Given the description of an element on the screen output the (x, y) to click on. 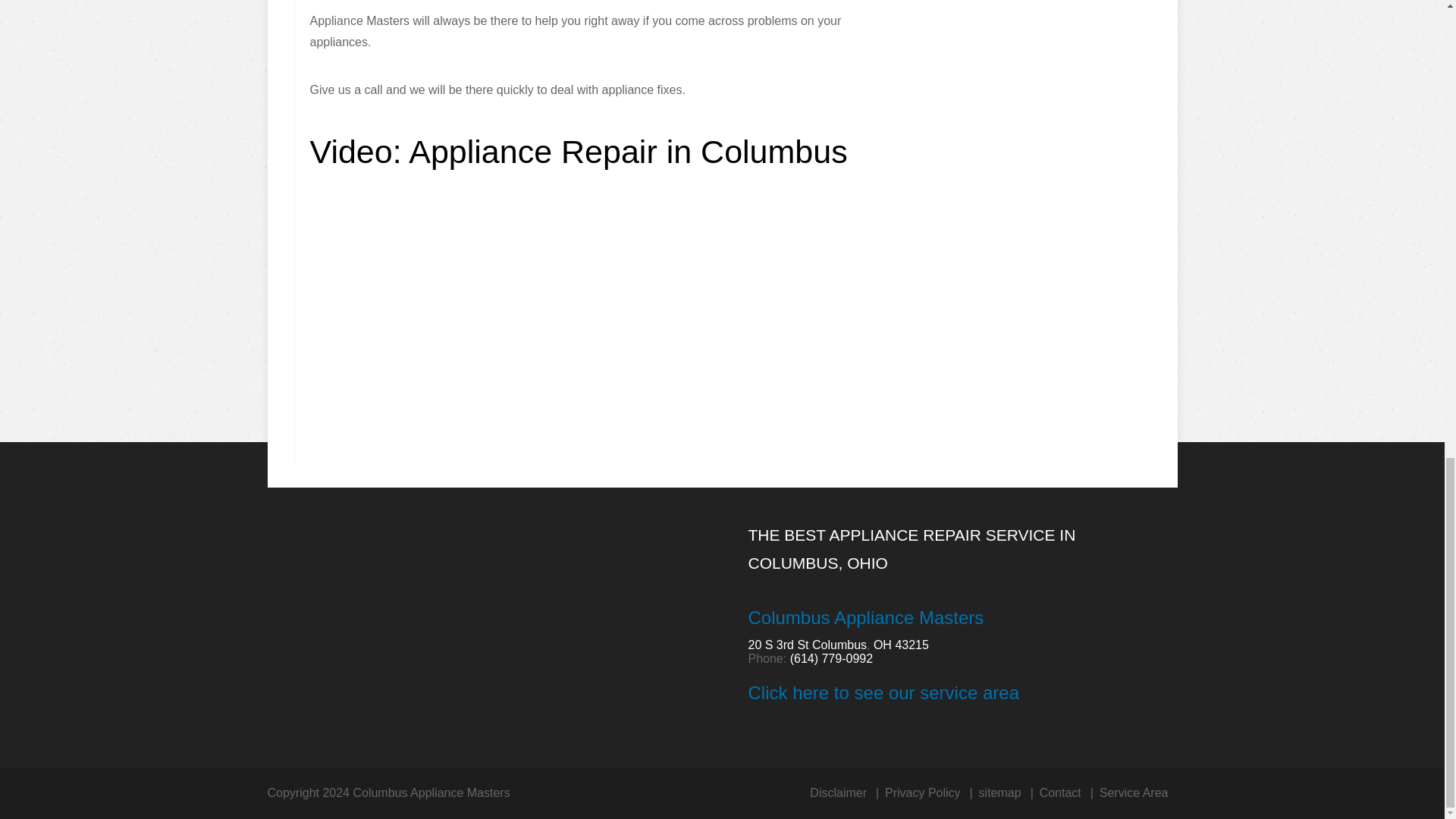
sitemap (1000, 792)
Click here to see our service area (883, 691)
Disclaimer (837, 792)
Contact (1060, 792)
Service Area (1134, 792)
Privacy Policy (922, 792)
